Given the description of an element on the screen output the (x, y) to click on. 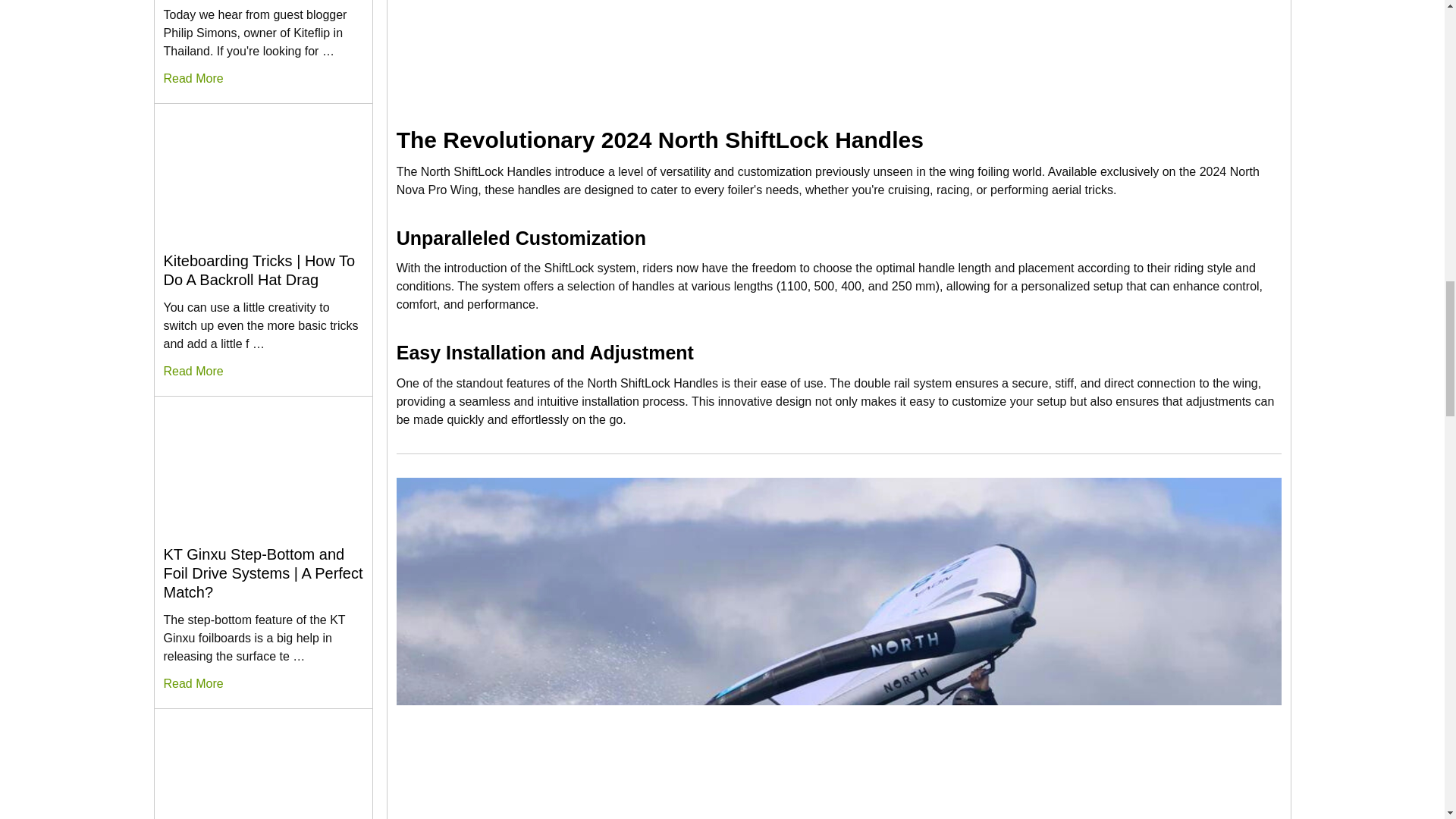
Starboard Ace Air Inflatable Wing Foilboard Review (262, 766)
